Given the description of an element on the screen output the (x, y) to click on. 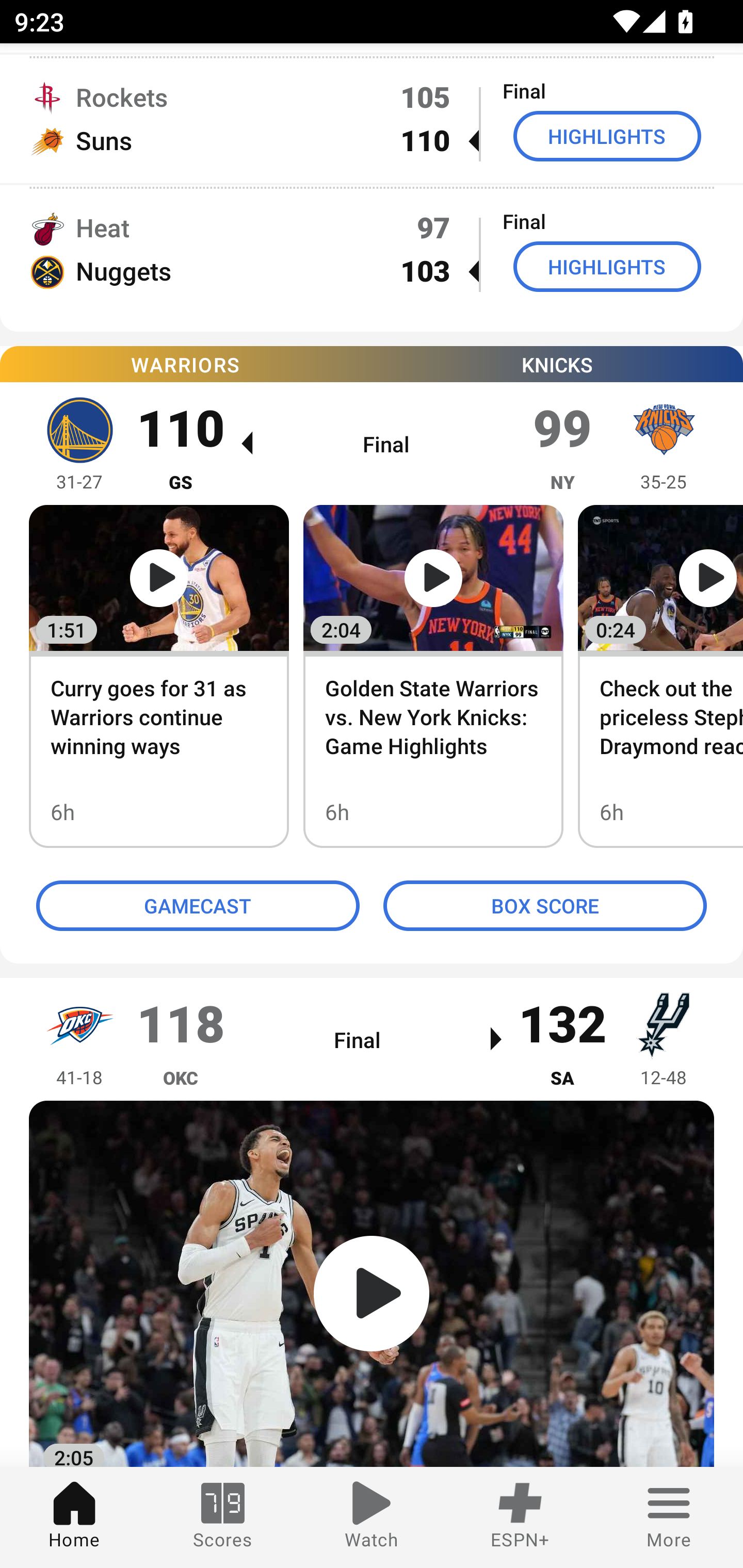
Rockets 105 Final Suns 110  HIGHLIGHTS (371, 118)
HIGHLIGHTS (607, 136)
Heat 97 Final Nuggets 103  HIGHLIGHTS (371, 249)
HIGHLIGHTS (607, 266)
GAMECAST (197, 906)
BOX SCORE (544, 906)
 2:05 (371, 1283)
Scores (222, 1517)
Watch (371, 1517)
ESPN+ (519, 1517)
More (668, 1517)
